Given the description of an element on the screen output the (x, y) to click on. 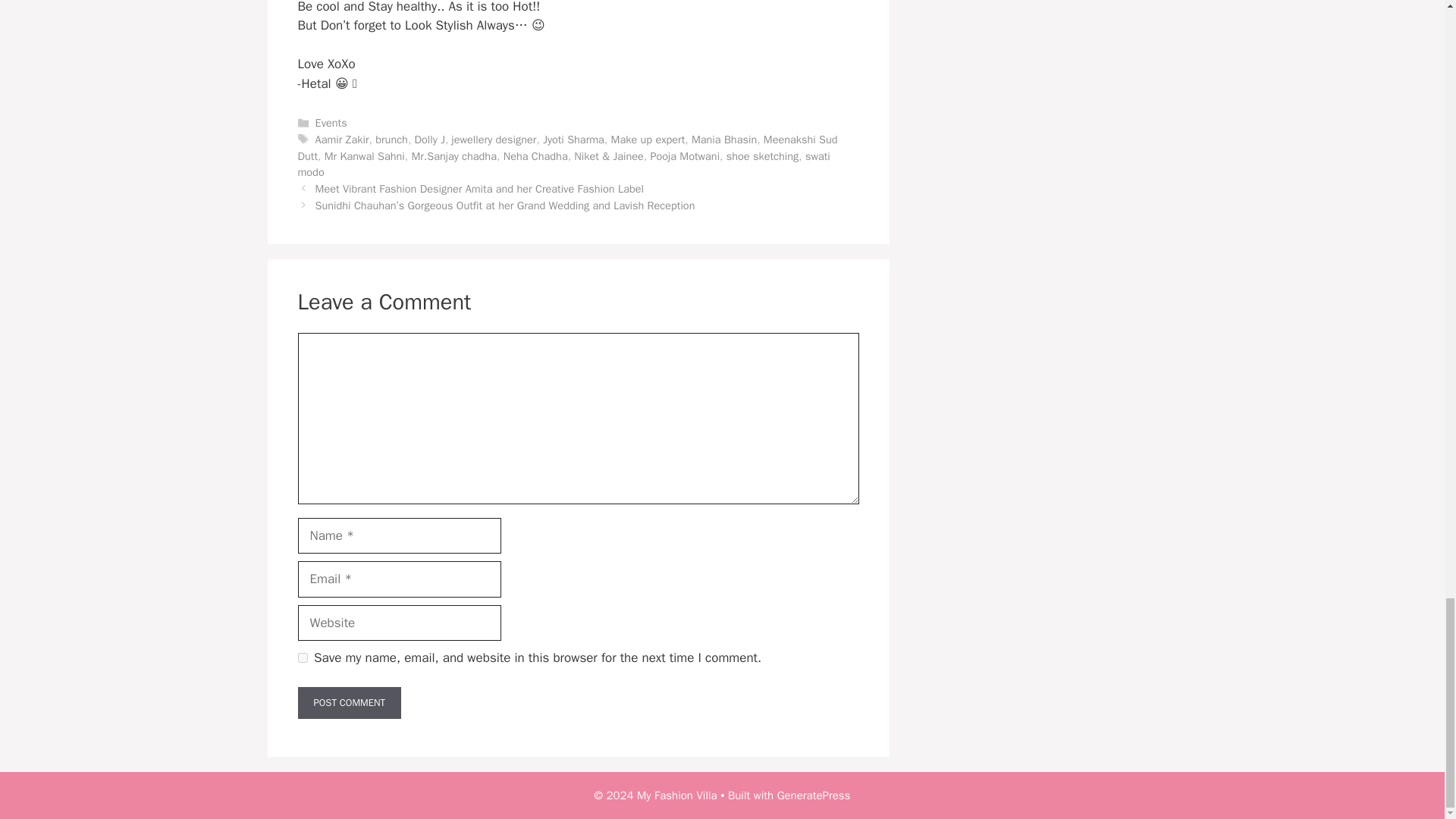
Mania Bhasin (724, 139)
jewellery designer (494, 139)
Pooja Motwani (684, 155)
Post Comment (349, 703)
Neha Chadha (535, 155)
Dolly J (429, 139)
swati modo (563, 164)
Make up expert (648, 139)
Aamir Zakir (342, 139)
Post Comment (349, 703)
